Given the description of an element on the screen output the (x, y) to click on. 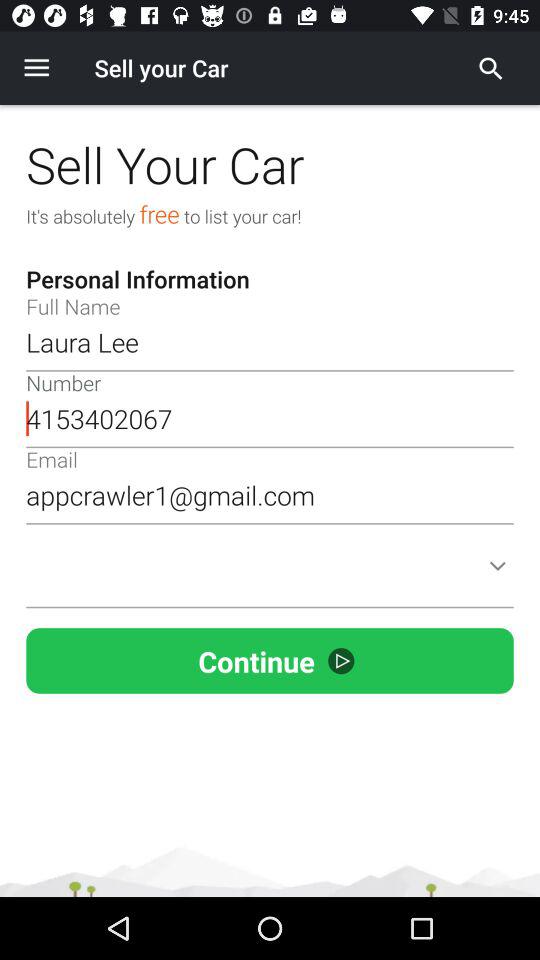
personal information combo (269, 578)
